Given the description of an element on the screen output the (x, y) to click on. 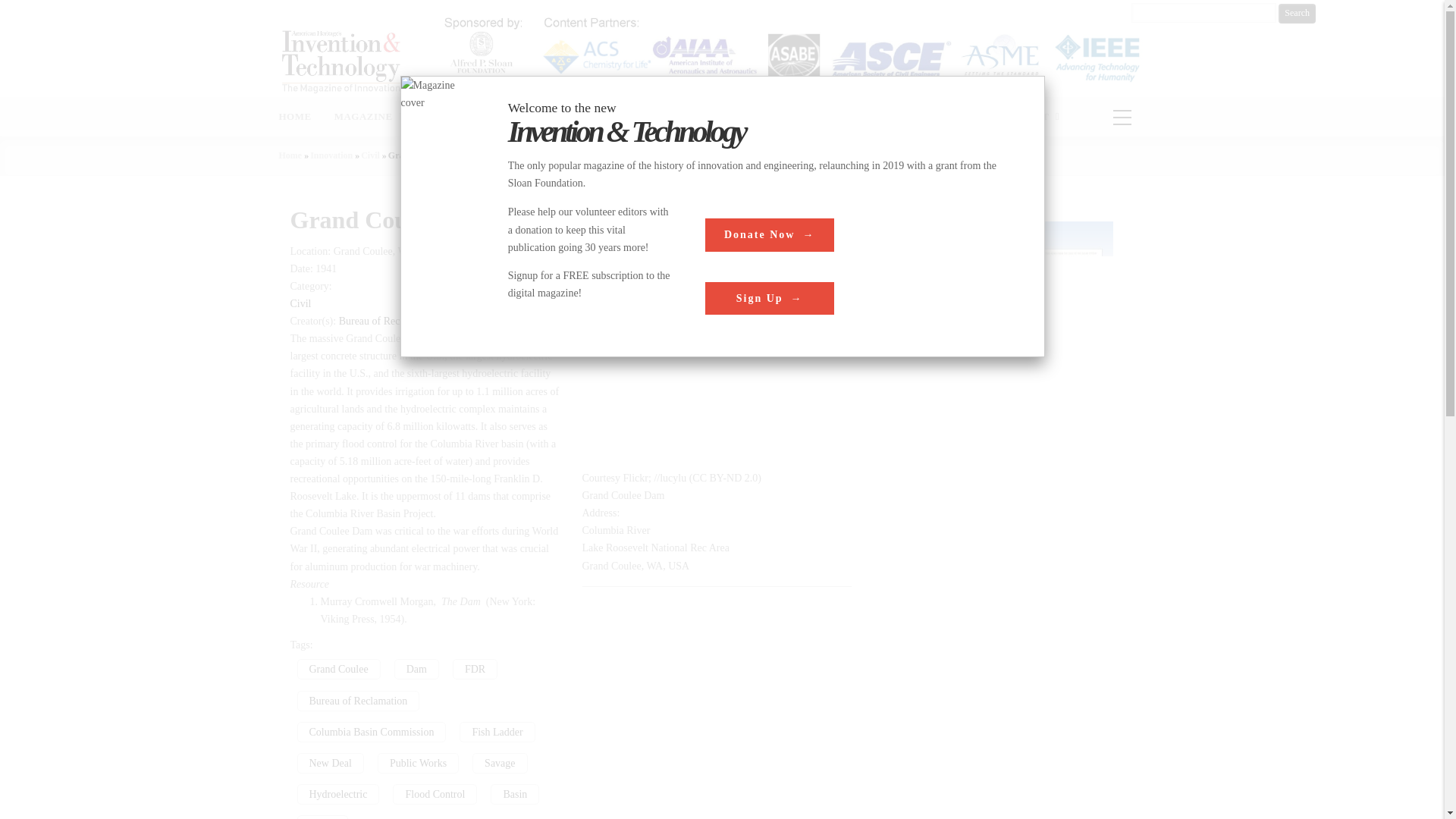
HOME (293, 116)
Public Works (417, 762)
Fish Ladder (497, 731)
Savage (499, 762)
Civil (370, 154)
INNOVATIONS (535, 116)
Grand Coulee (338, 669)
MAGAZINE (368, 116)
Search (1297, 13)
